Given the description of an element on the screen output the (x, y) to click on. 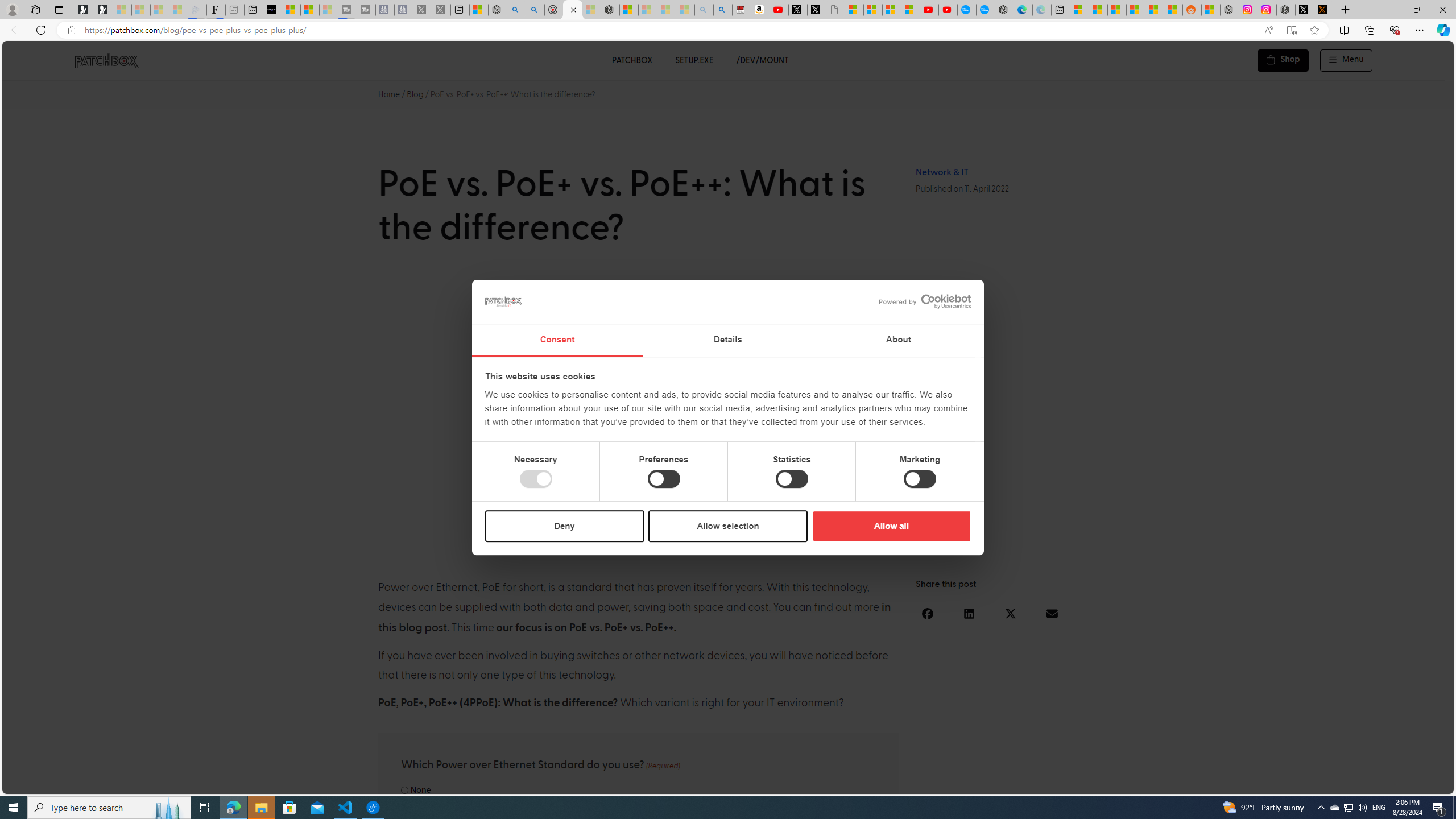
Language switcher : Swedish (1356, 782)
Language switcher : Croatian (1322, 782)
Allow all (890, 525)
poe ++ standard - Search (534, 9)
SETUP.EXE (694, 60)
PATCHBOX - Simplify IT (106, 60)
PATCHBOX (631, 60)
help.x.com | 524: A timeout occurred (1323, 9)
Language switcher : German (1231, 782)
